Given the description of an element on the screen output the (x, y) to click on. 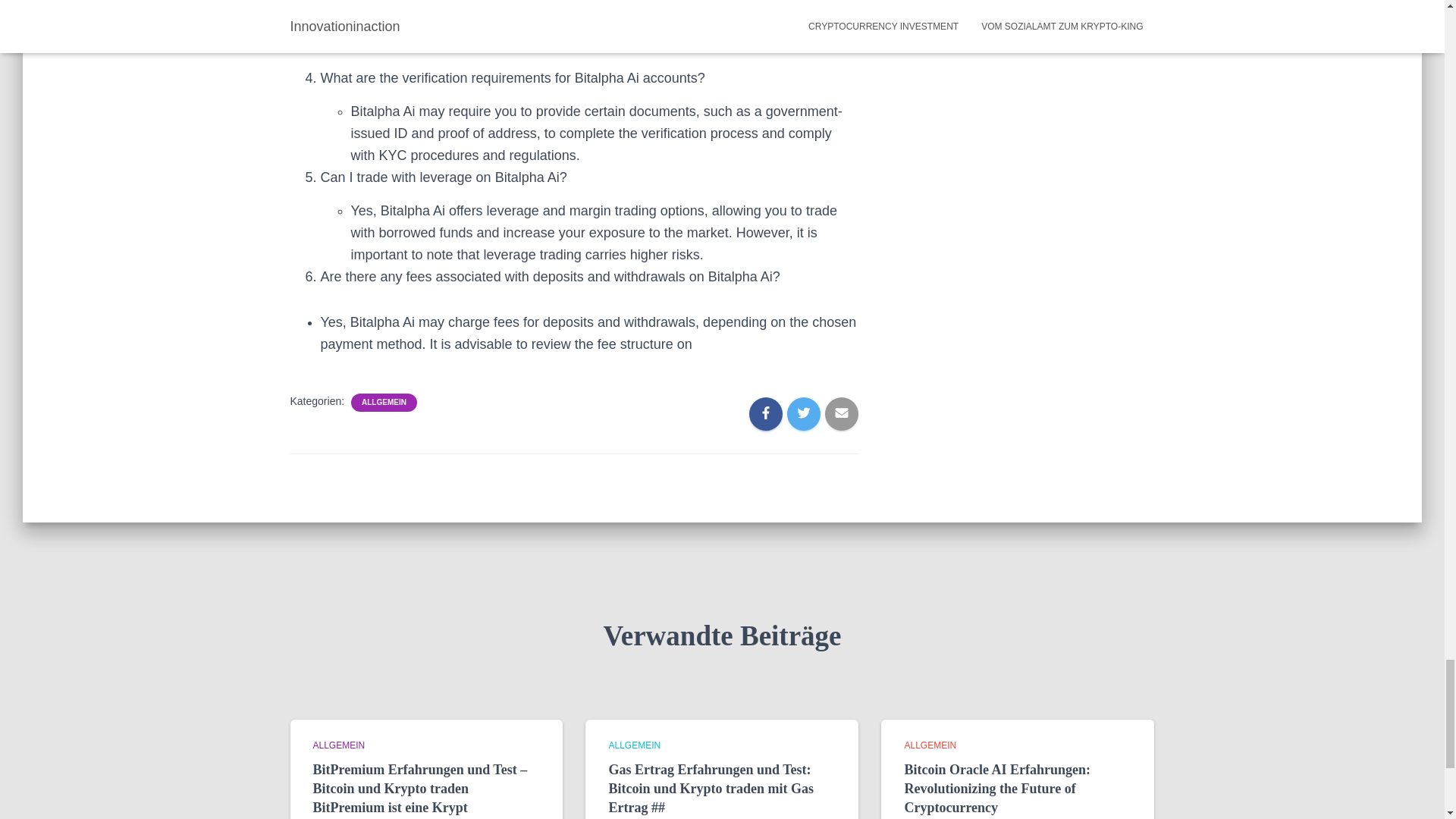
ALLGEMEIN (383, 402)
